Given the description of an element on the screen output the (x, y) to click on. 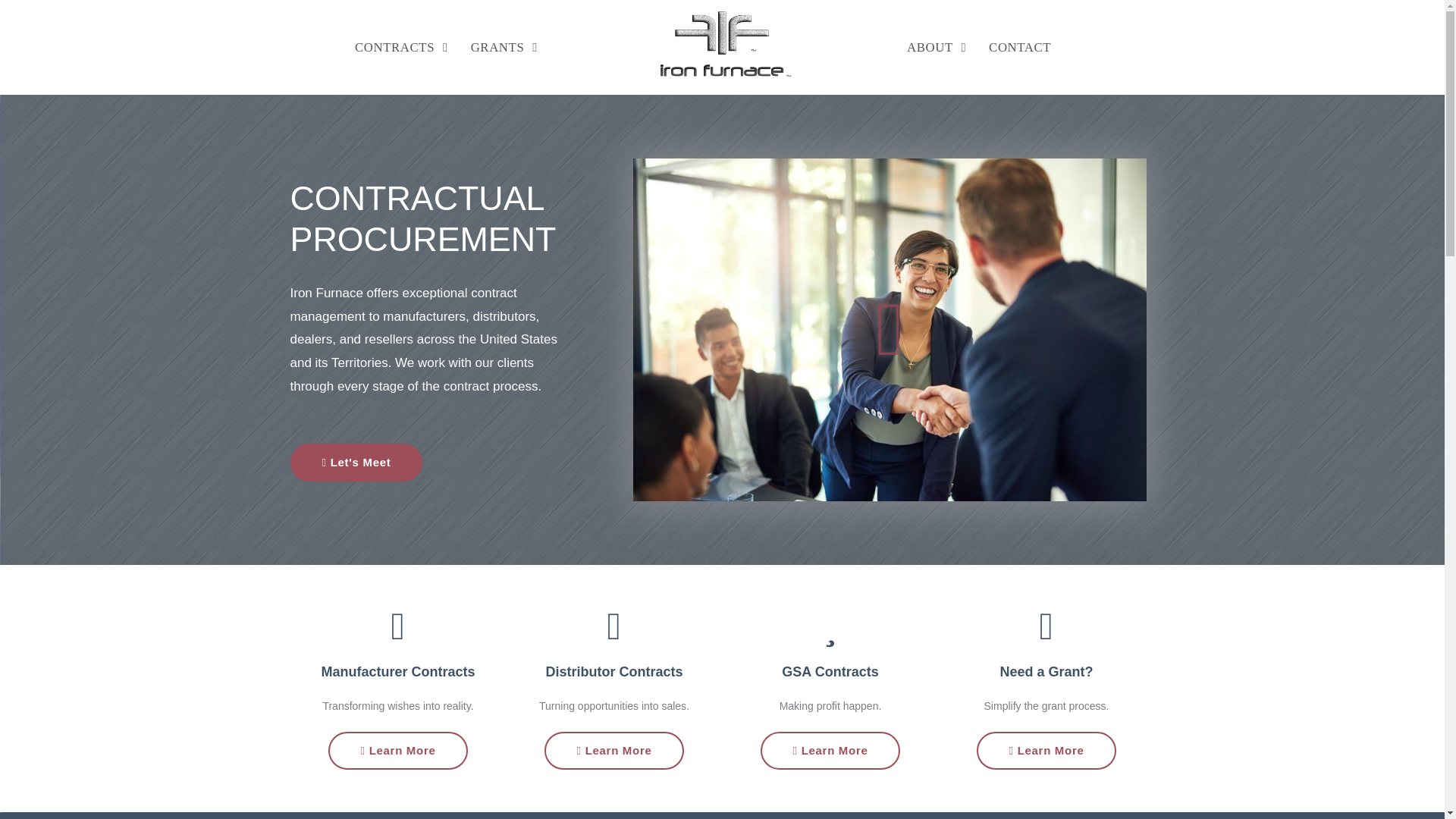
CONTRACTS (401, 47)
GRANTS (504, 47)
Learn More (829, 750)
CONTACT (1019, 47)
Learn More (398, 750)
ABOUT (935, 47)
Learn More (1045, 750)
Learn More (613, 750)
Let's Meet (355, 462)
Need a Grant? (1045, 671)
